Given the description of an element on the screen output the (x, y) to click on. 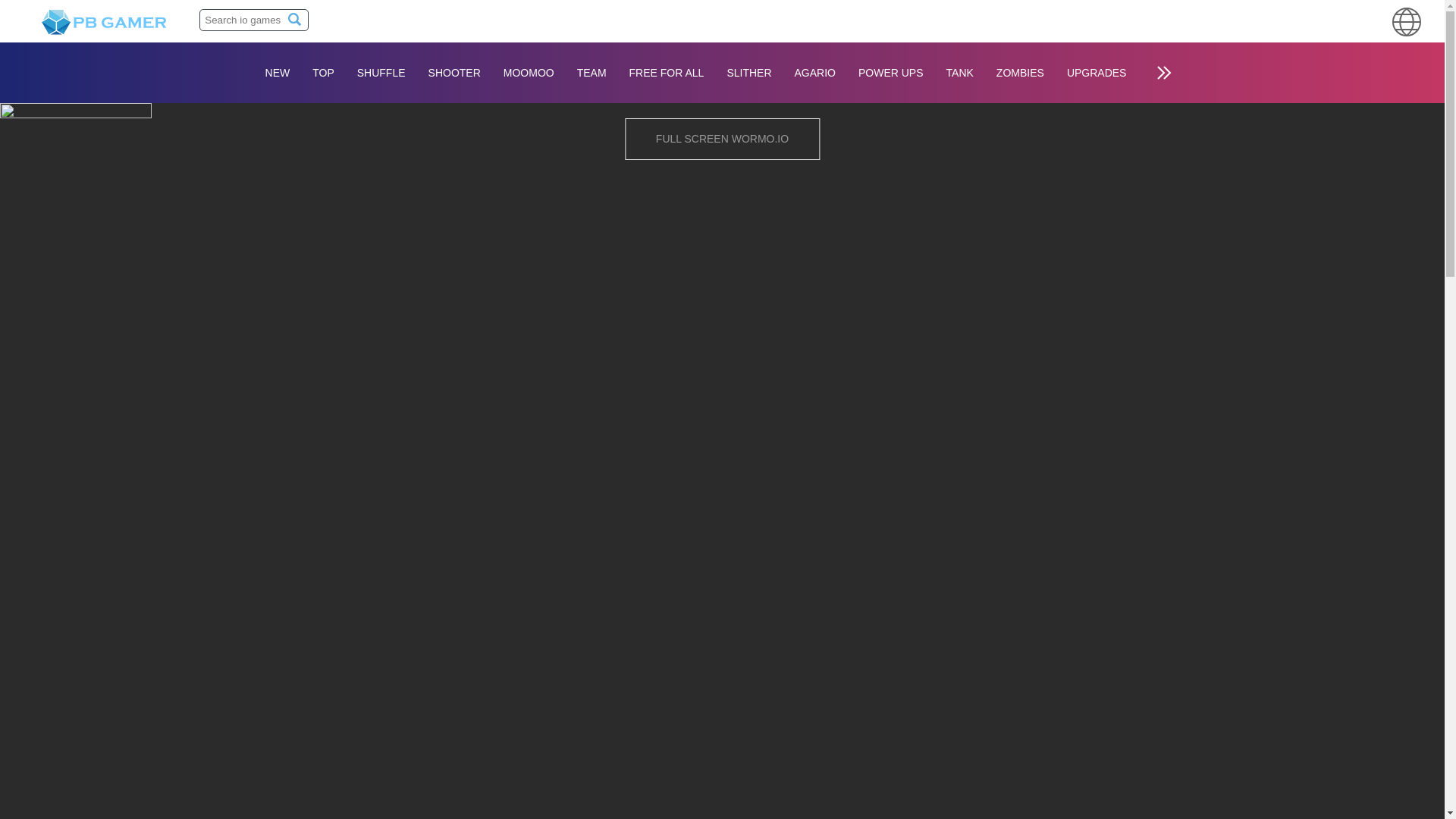
ZOMBIES (1020, 72)
MOOMOO (529, 72)
Search (294, 19)
AGARIO (814, 72)
POWER UPS (890, 72)
SHUFFLE (381, 72)
Search (294, 19)
UPGRADES (1096, 72)
SLITHER (748, 72)
FREE FOR ALL (666, 72)
SHOOTER (454, 72)
